Given the description of an element on the screen output the (x, y) to click on. 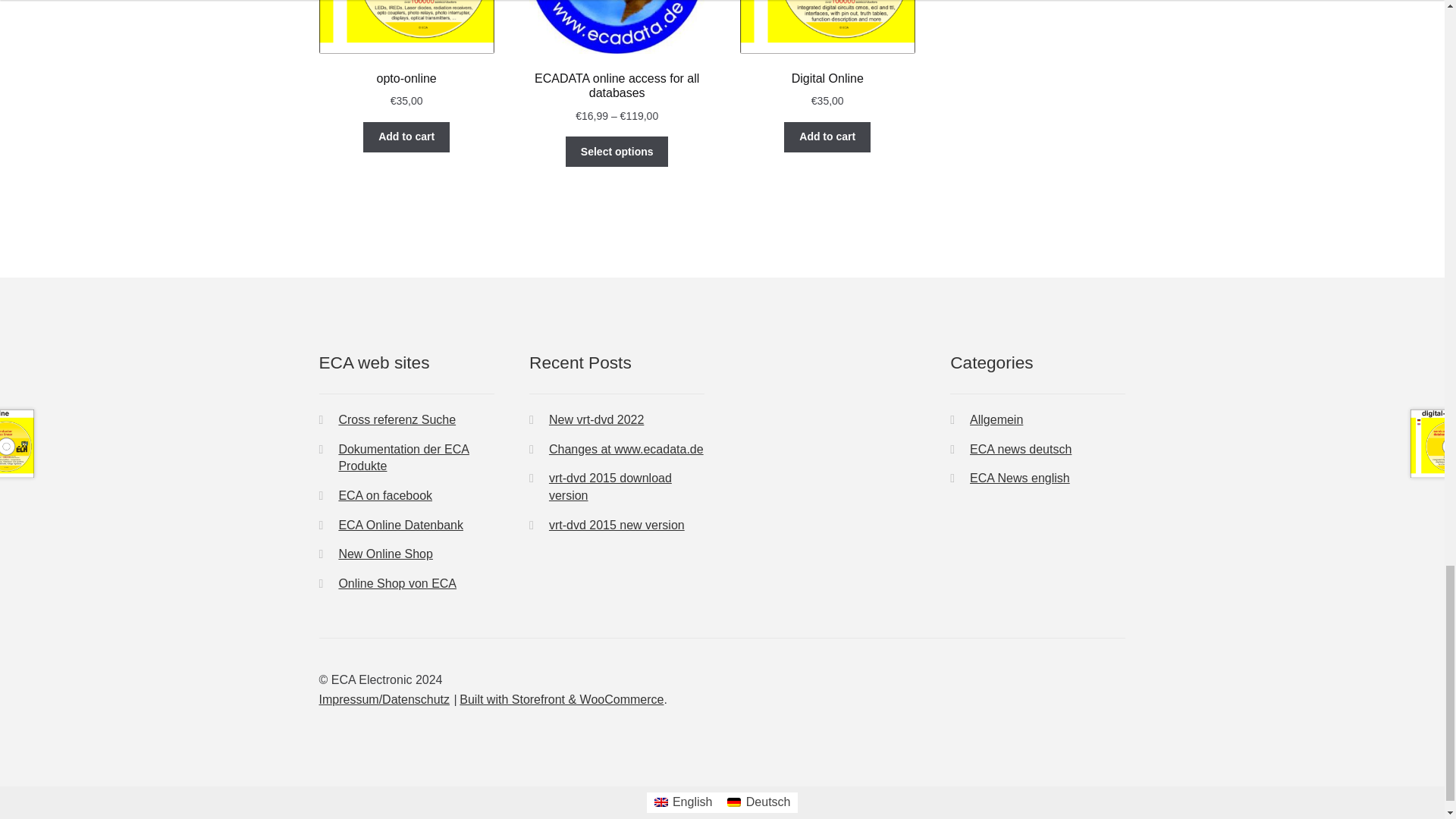
New Online Shop (384, 553)
ECA on facebook (384, 495)
WooCommerce - The Best eCommerce Platform for WordPress (561, 698)
